Given the description of an element on the screen output the (x, y) to click on. 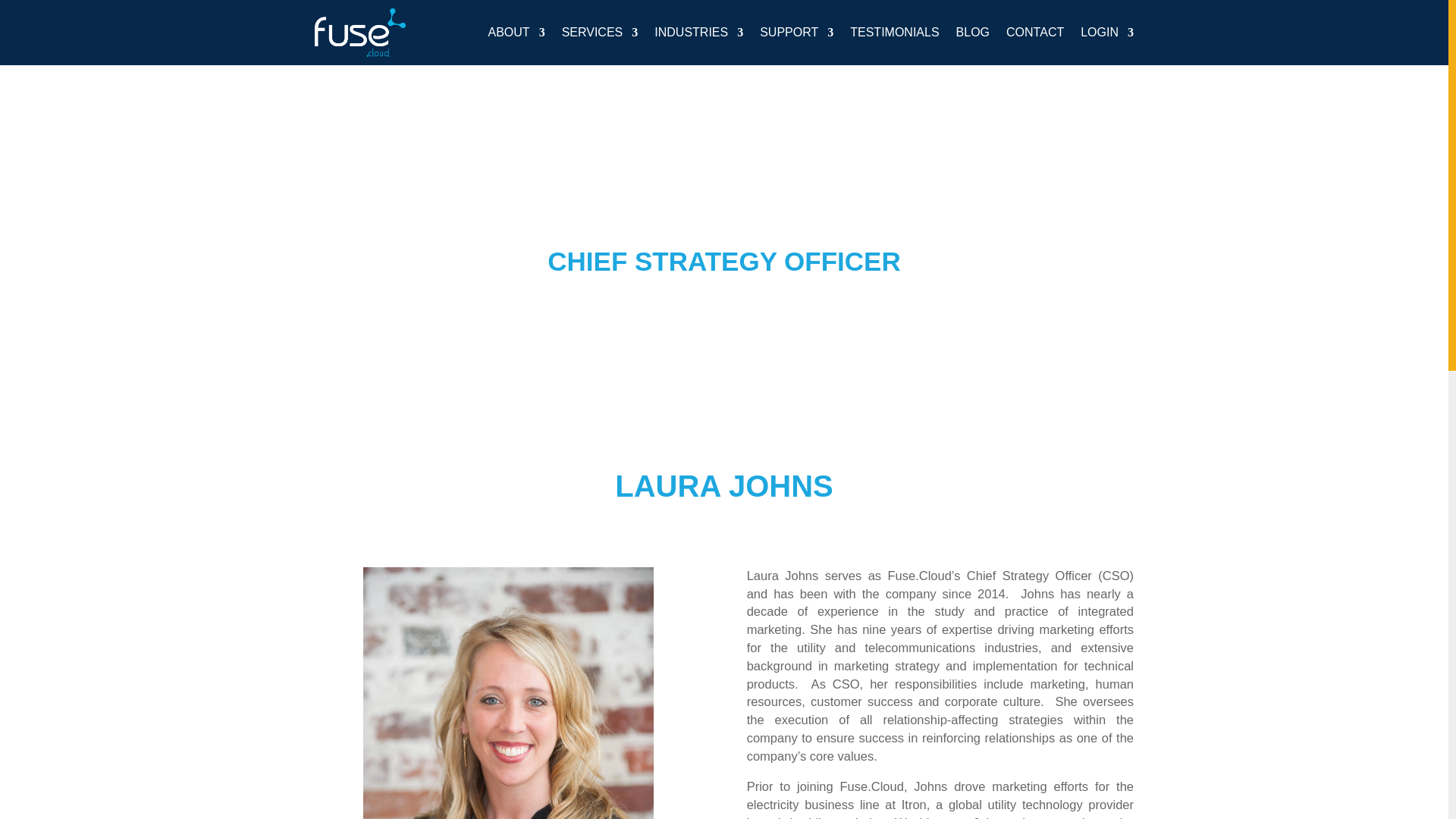
INDUSTRIES (697, 32)
ABOUT (515, 32)
Laura Johns (507, 693)
TESTIMONIALS (894, 32)
SERVICES (600, 32)
SUPPORT (796, 32)
